Given the description of an element on the screen output the (x, y) to click on. 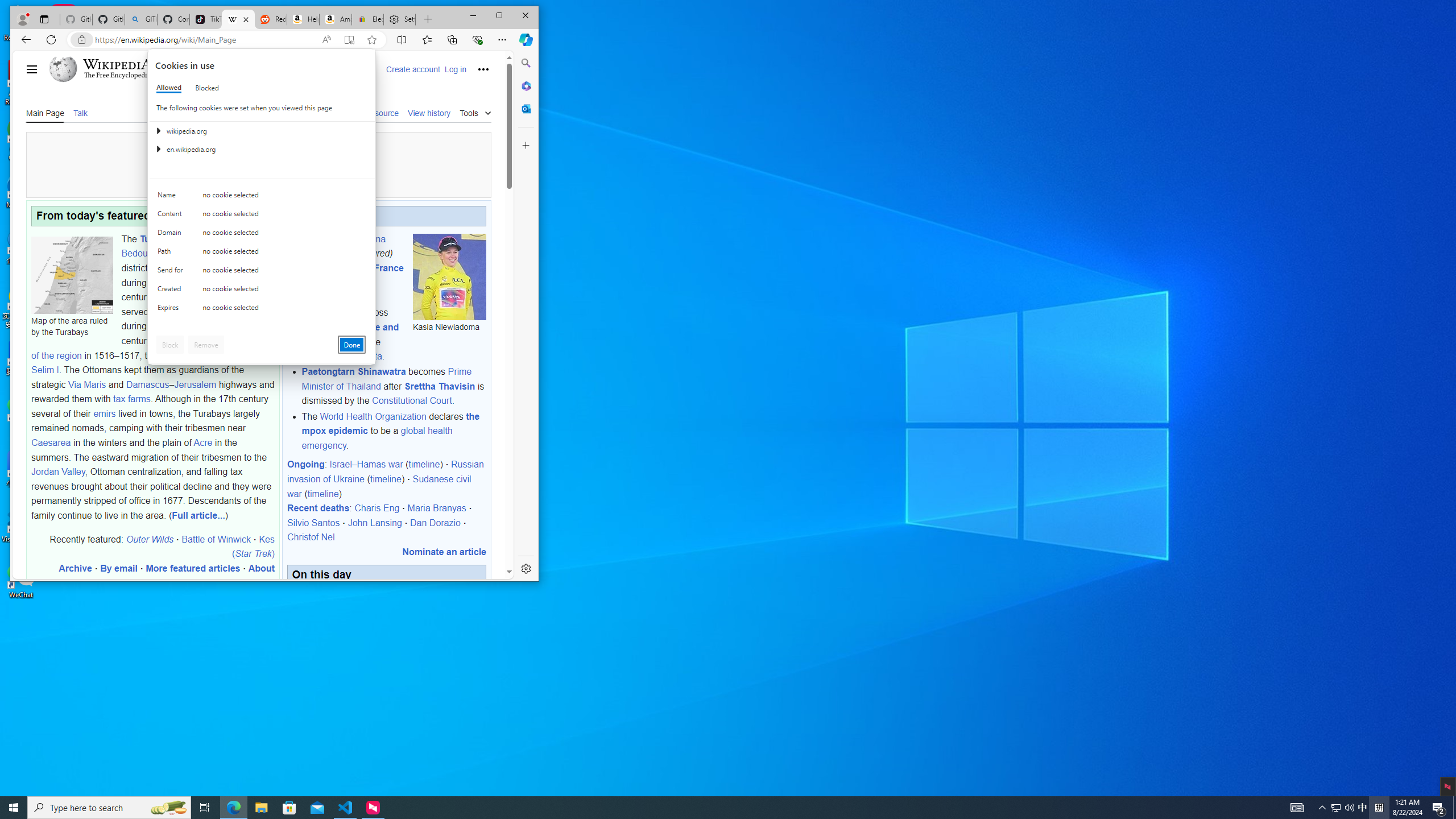
Blocked (206, 87)
Notification Chevron (1322, 807)
Microsoft Edge - 1 running window (233, 807)
Created (172, 291)
Expires (172, 310)
Type here to search (108, 807)
